Given the description of an element on the screen output the (x, y) to click on. 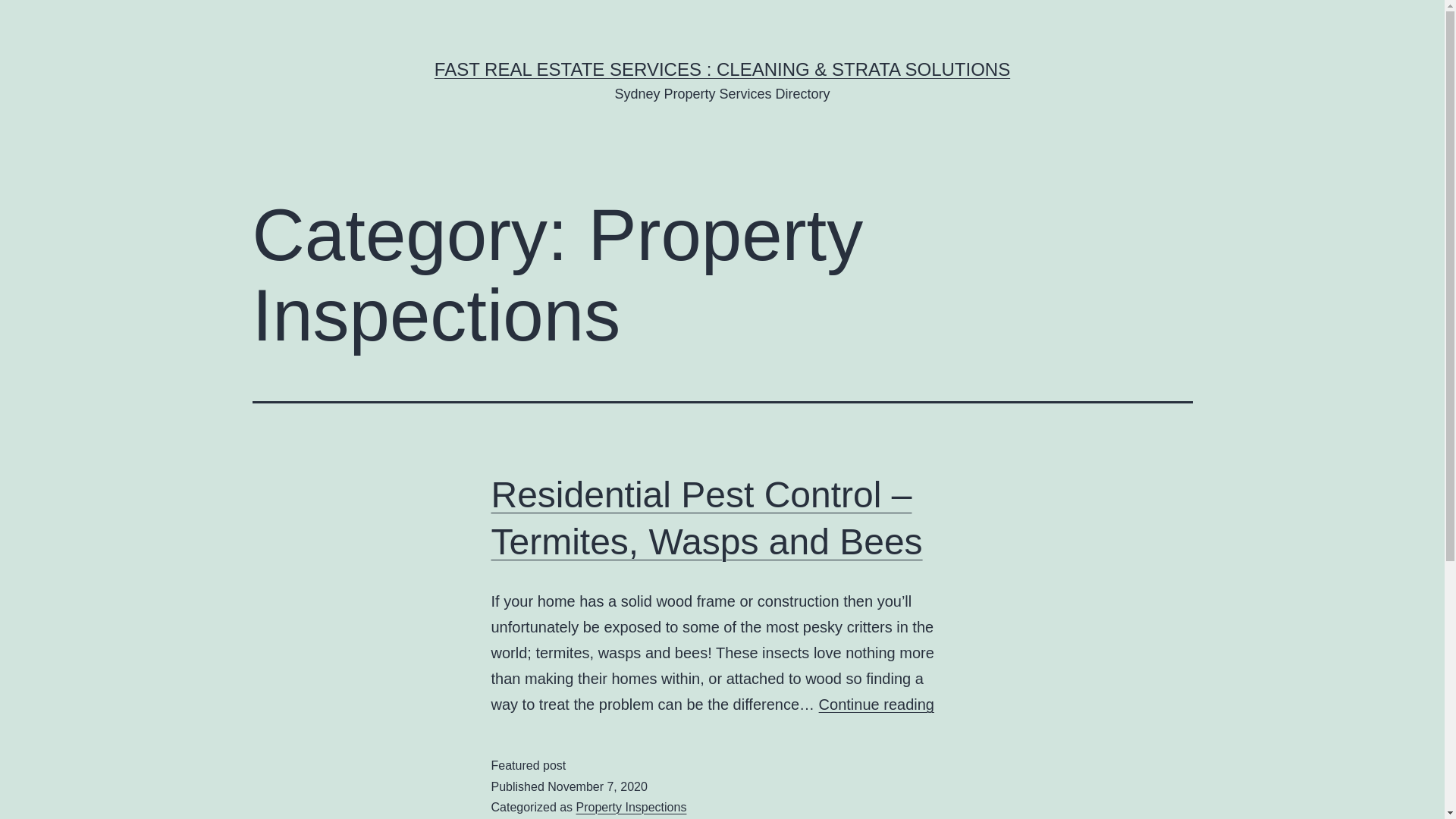
FAST REAL ESTATE SERVICES : CLEANING & STRATA SOLUTIONS Element type: text (722, 69)
Property Inspections Element type: text (631, 806)
